Given the description of an element on the screen output the (x, y) to click on. 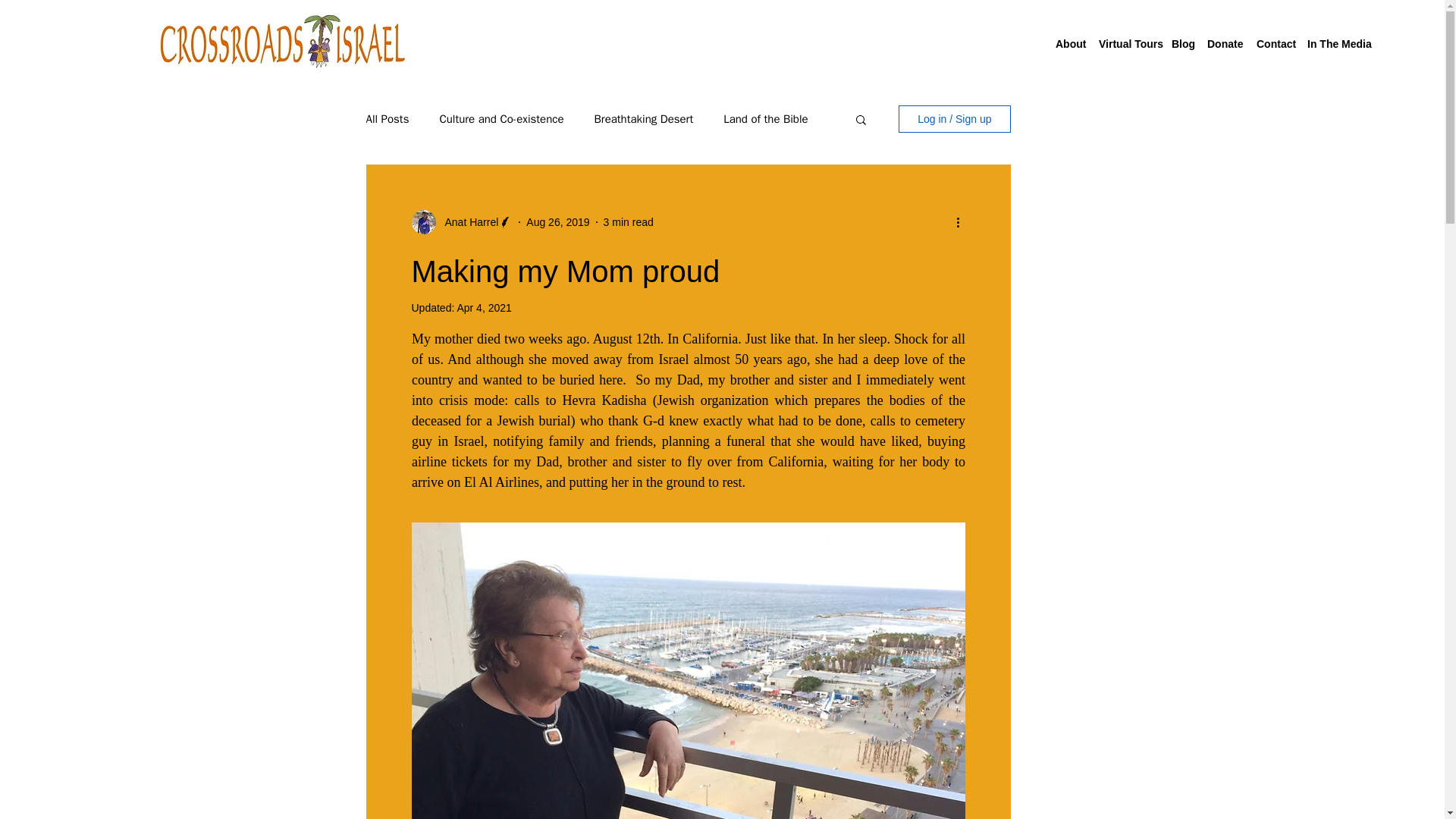
Anat Harrel (466, 221)
Land of the Bible (765, 119)
Virtual Tours (1126, 43)
crossroads Israel (281, 44)
Culture and Co-existence (501, 119)
Apr 4, 2021 (484, 307)
Donate (1224, 43)
All Posts (387, 119)
Aug 26, 2019 (557, 221)
Contact (1274, 43)
Blog (1181, 43)
In The Media (1337, 43)
3 min read (628, 221)
Breathtaking Desert (644, 119)
About (1069, 43)
